Given the description of an element on the screen output the (x, y) to click on. 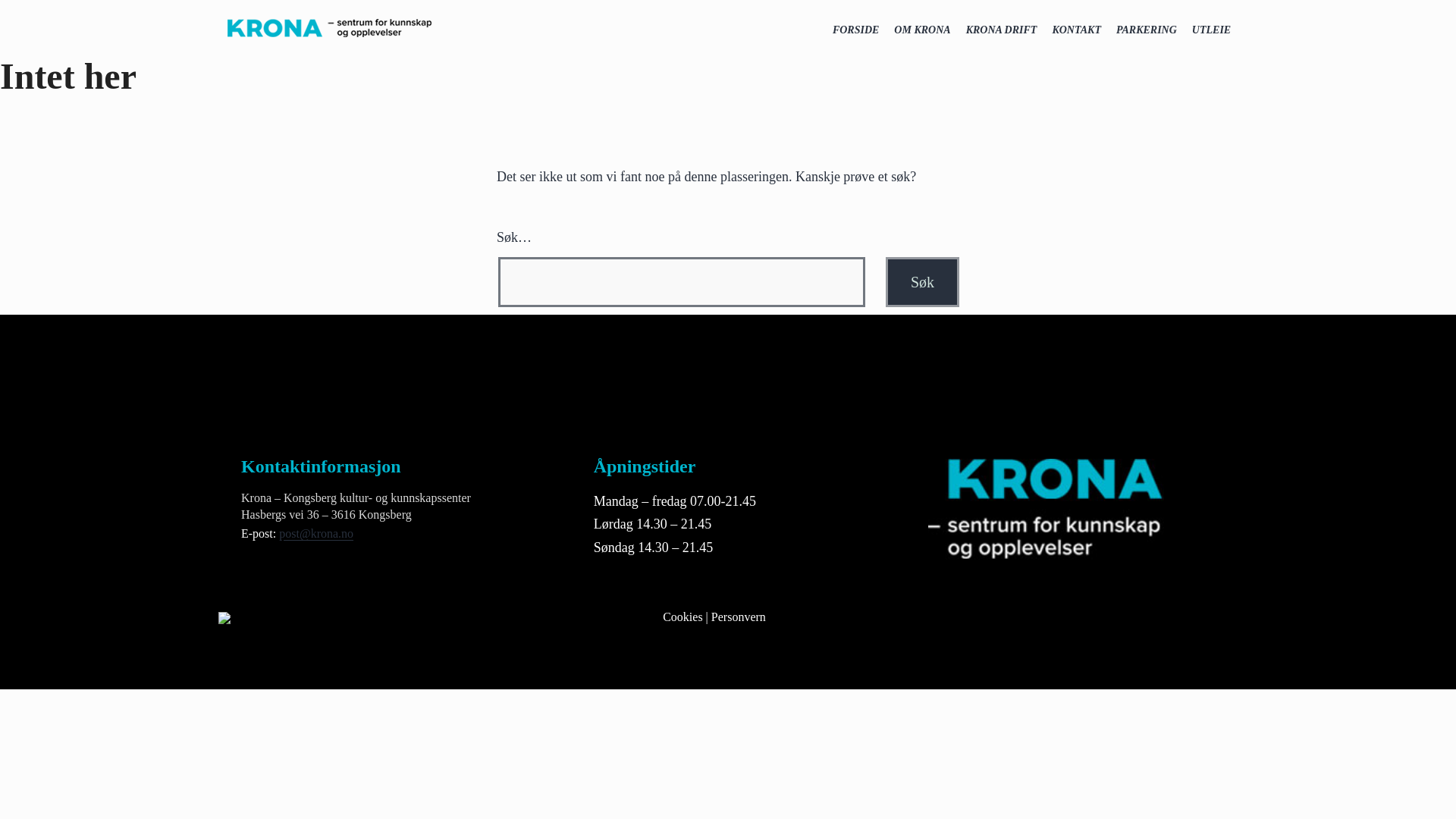
PARKERING (1146, 29)
KONTAKT (1075, 29)
OM KRONA (922, 29)
KRONA DRIFT (1001, 29)
FORSIDE (855, 29)
UTLEIE (1212, 29)
Personvern (738, 616)
